Given the description of an element on the screen output the (x, y) to click on. 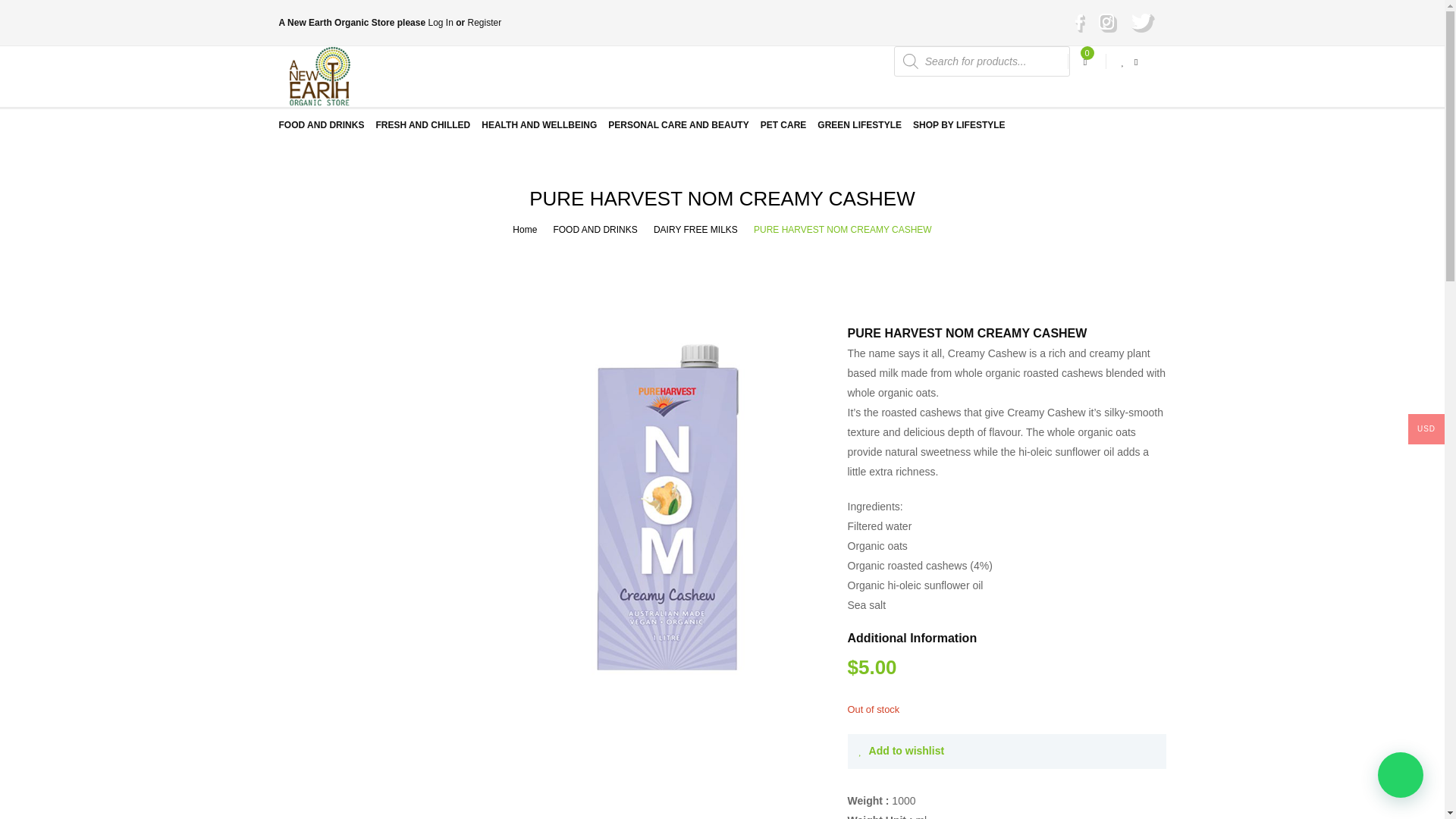
Add to wishlist (901, 751)
PET CARE (783, 124)
PERSONAL CARE AND BEAUTY (678, 124)
GREEN LIFESTYLE (858, 124)
SHOP BY LIFESTYLE (959, 124)
DAIRY FREE MILKS (695, 229)
FOOD AND DRINKS (595, 229)
Register (483, 22)
HEALTH AND WELLBEING (538, 124)
FOOD AND DRINKS (595, 229)
Log In (440, 22)
Home (524, 229)
FOOD AND DRINKS (322, 124)
FRESH AND CHILLED (422, 124)
